Given the description of an element on the screen output the (x, y) to click on. 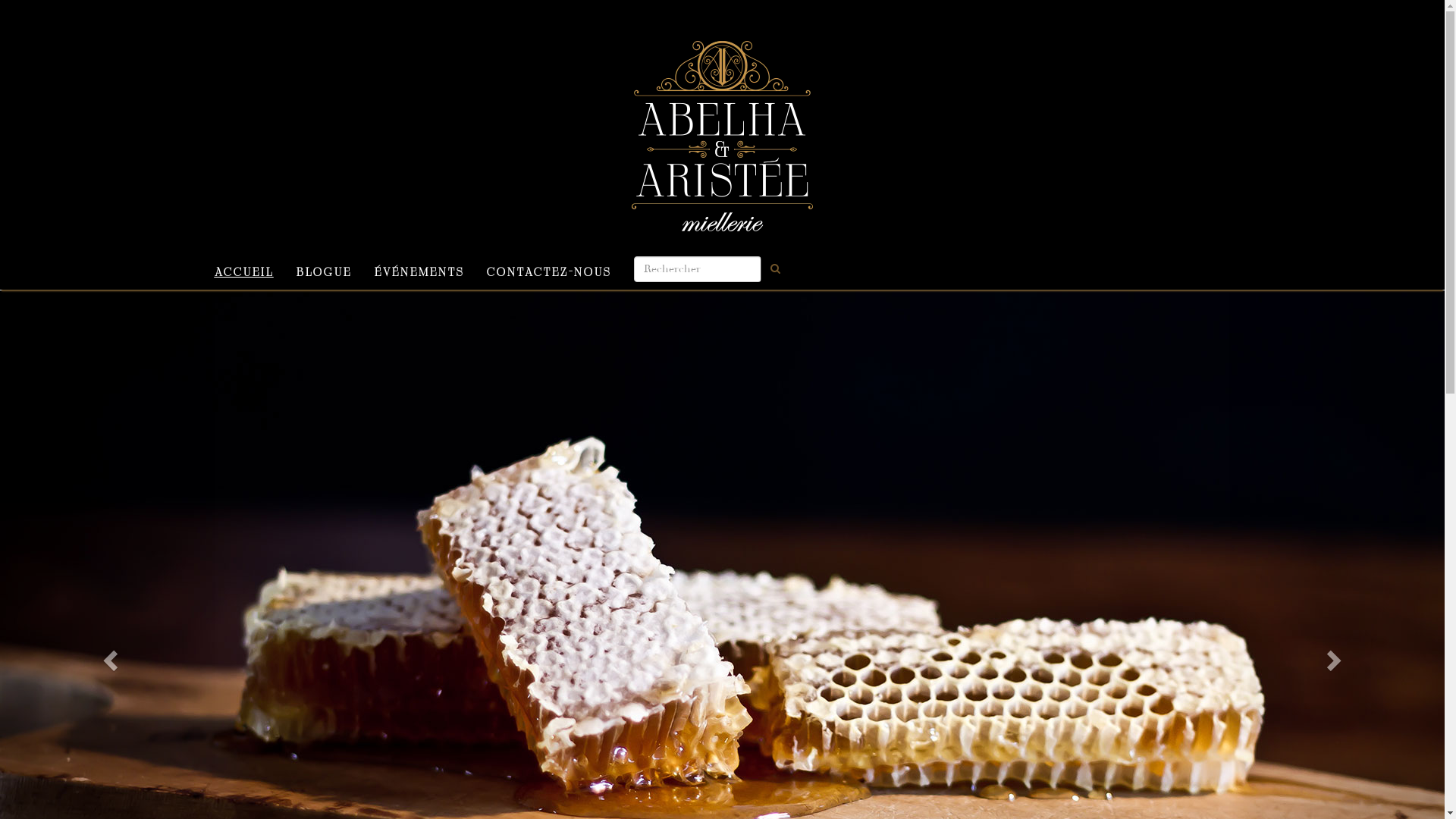
BLOGUE Element type: text (324, 269)
CONTACTEZ-NOUS Element type: text (547, 269)
ACCUEIL Element type: text (244, 269)
